Given the description of an element on the screen output the (x, y) to click on. 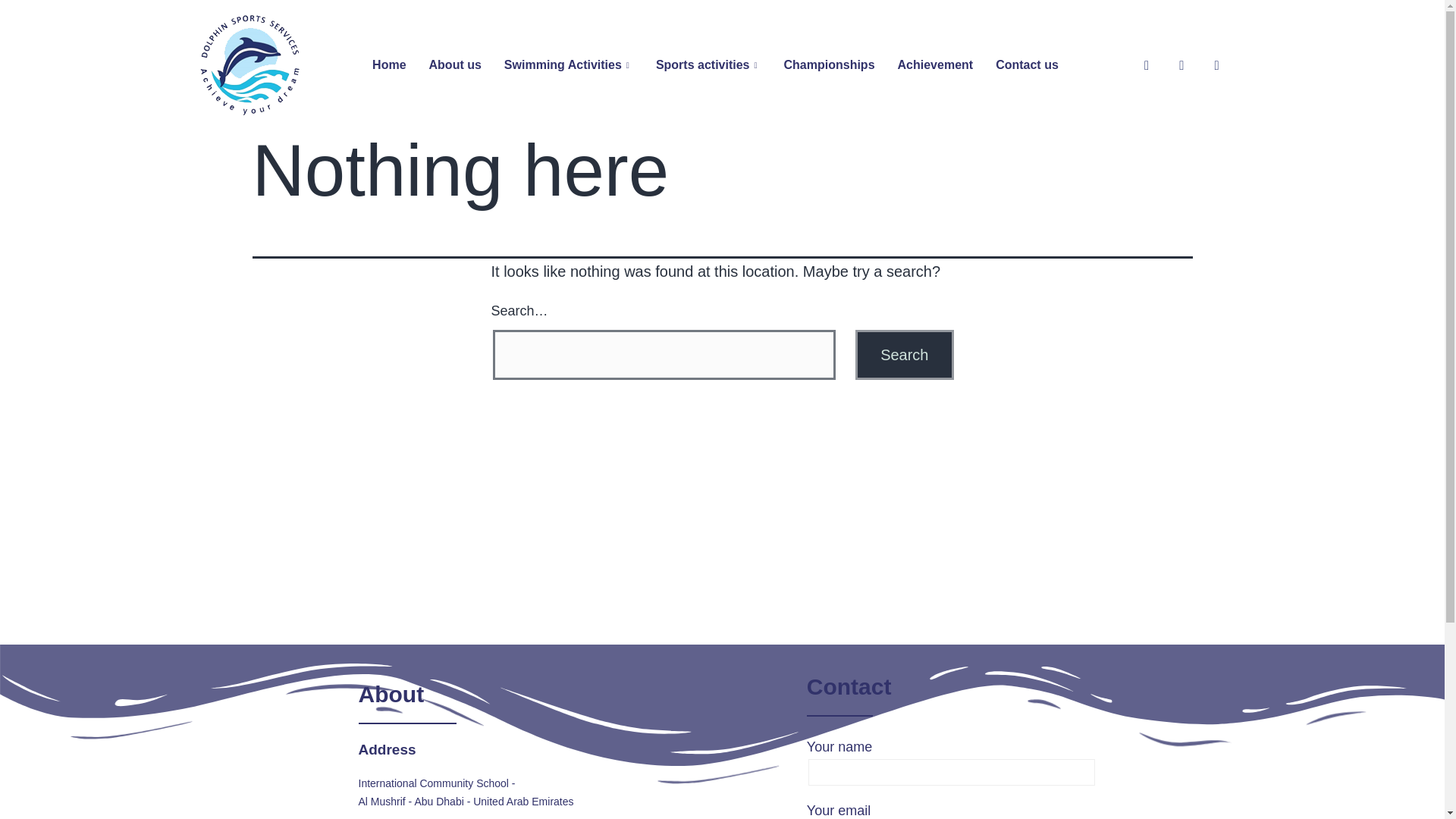
Swimming Activities (569, 65)
Contact us (1027, 65)
Championships (829, 65)
About us (455, 65)
Search (904, 355)
Achievement (935, 65)
Sports activities (709, 65)
Search (904, 355)
Home (388, 65)
Search (904, 355)
